Given the description of an element on the screen output the (x, y) to click on. 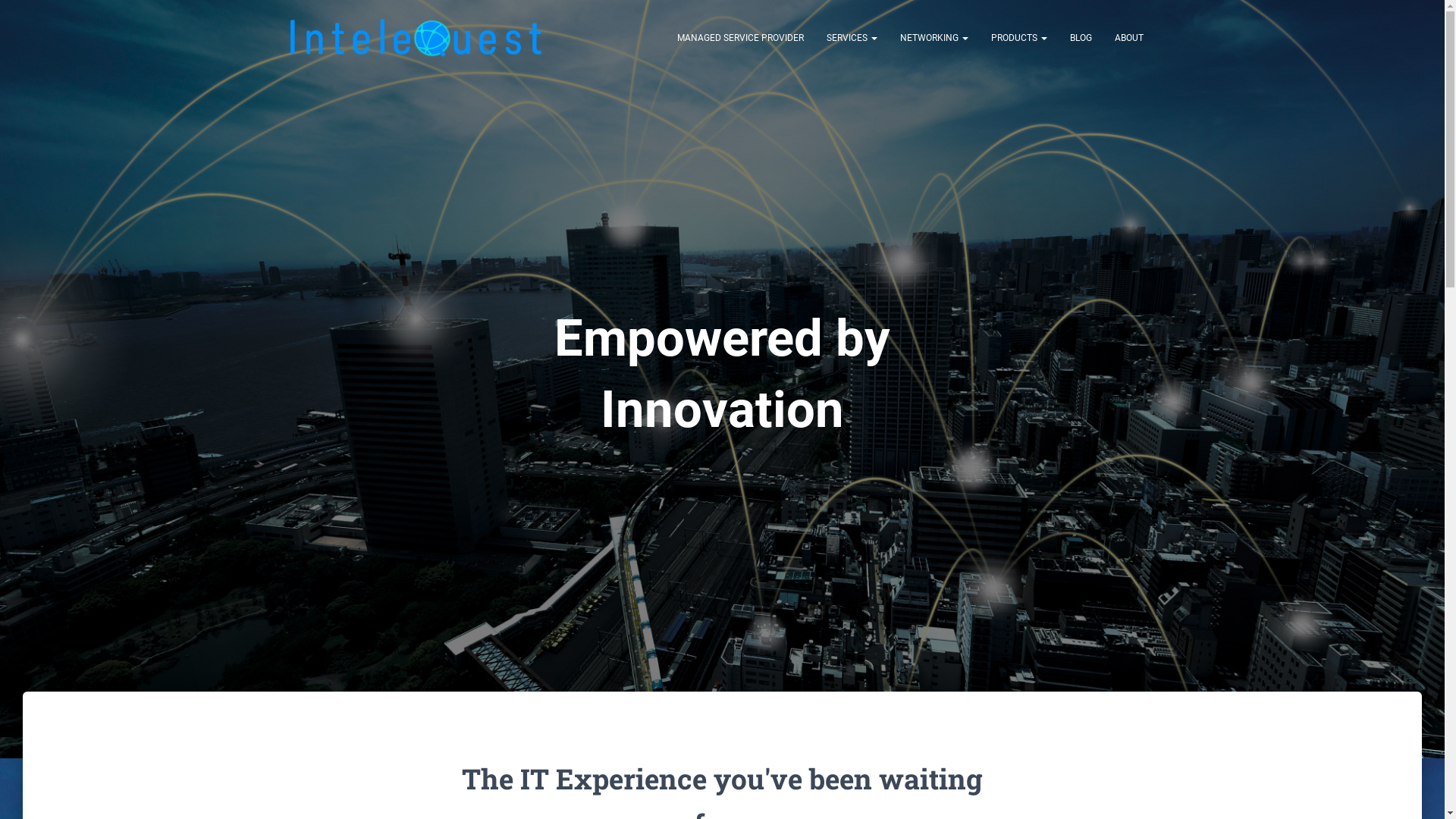
PRODUCTS Element type: text (1018, 37)
NETWORKING Element type: text (933, 37)
ABOUT Element type: text (1128, 37)
SERVICES Element type: text (851, 37)
MANAGED SERVICE PROVIDER Element type: text (740, 37)
BLOG Element type: text (1080, 37)
Intelequest LLC Element type: hover (416, 37)
